Given the description of an element on the screen output the (x, y) to click on. 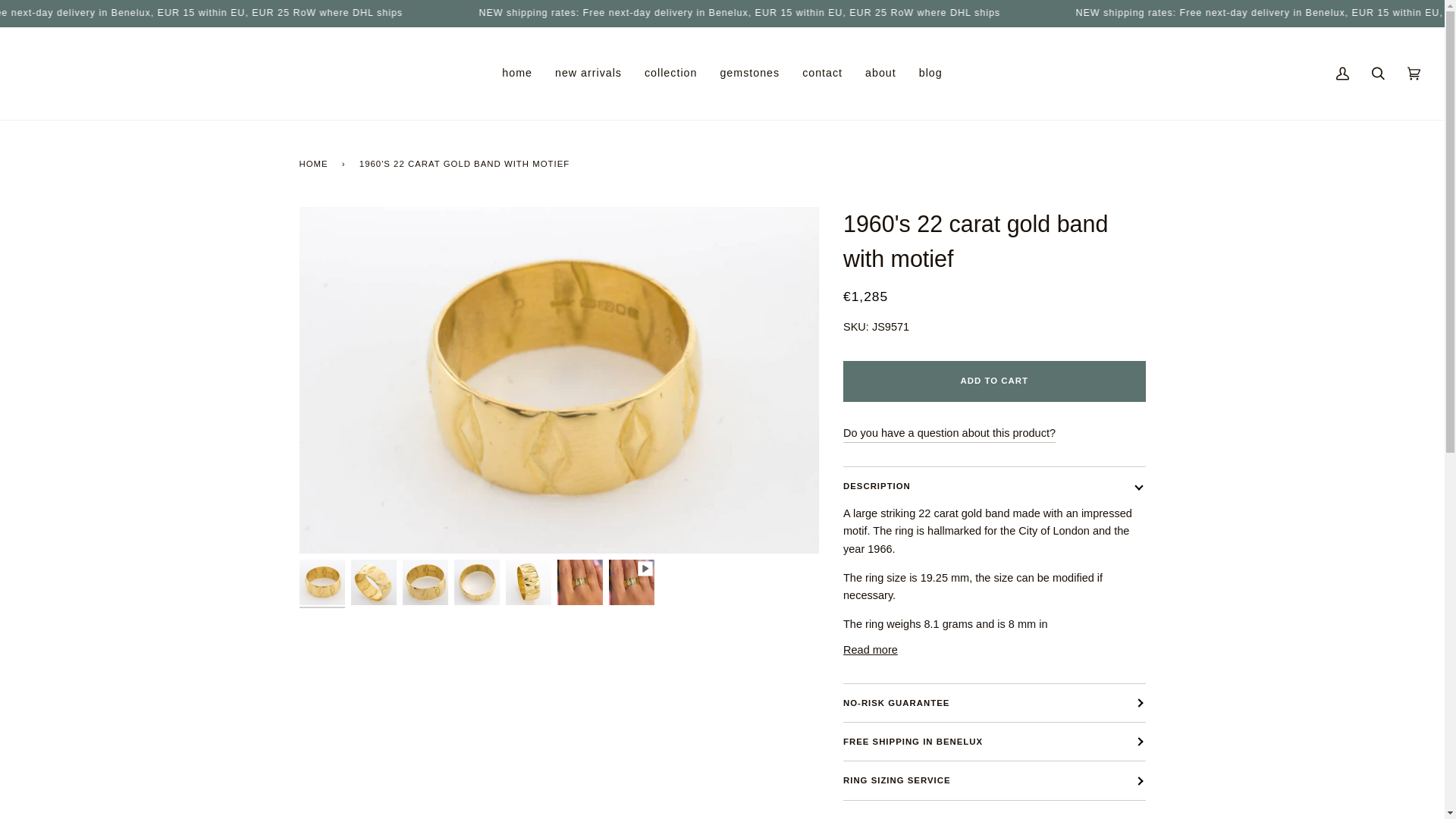
new arrivals (588, 73)
gemstones (748, 73)
Back to the frontpage (315, 163)
